Given the description of an element on the screen output the (x, y) to click on. 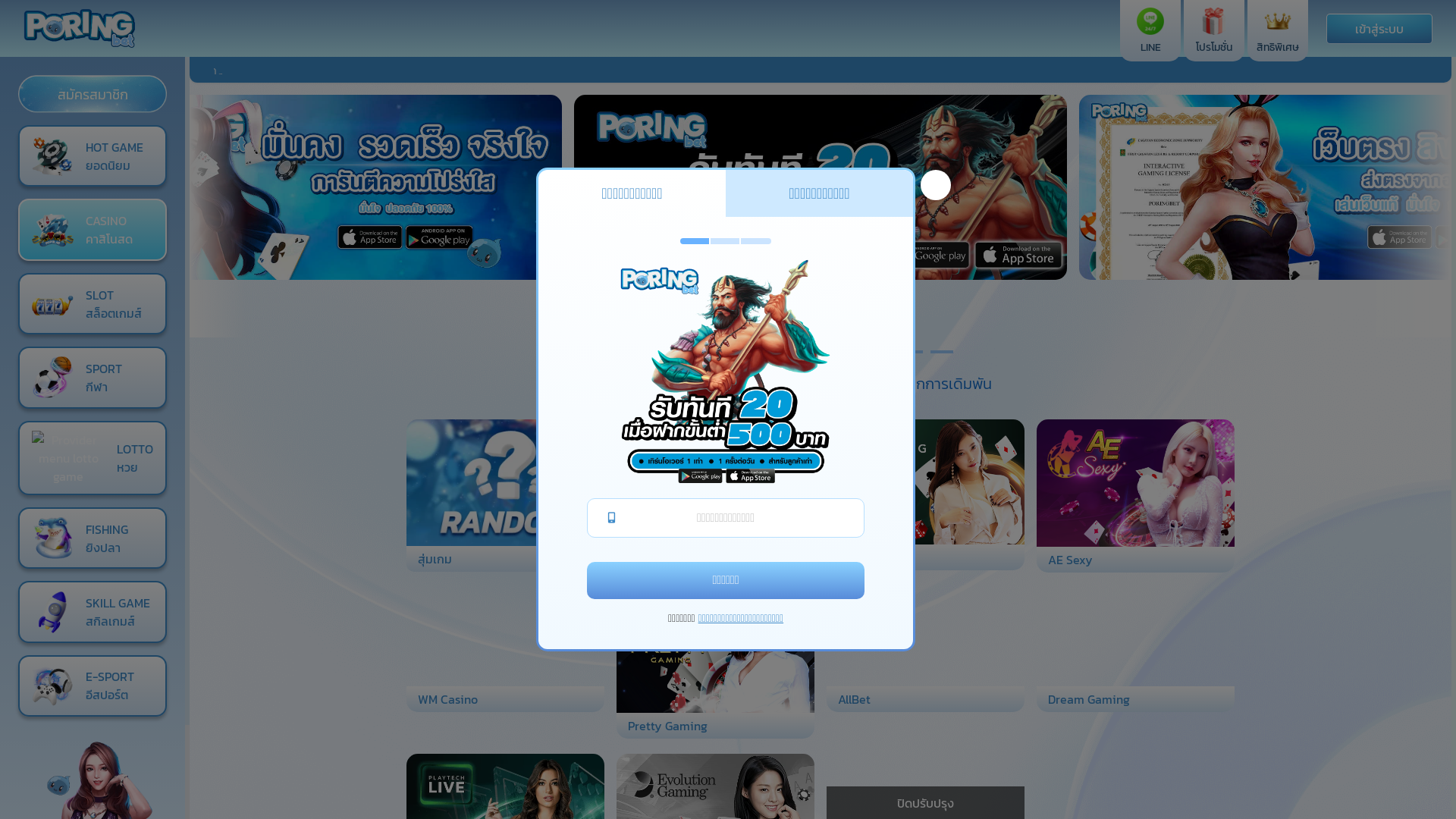
9 Element type: text (941, 351)
4 Element type: text (789, 351)
7 Element type: text (880, 351)
5 Element type: text (820, 351)
1 Element type: text (698, 351)
8 Element type: text (911, 351)
2 Element type: text (729, 351)
6 Element type: text (850, 351)
3 Element type: text (759, 351)
